Given the description of an element on the screen output the (x, y) to click on. 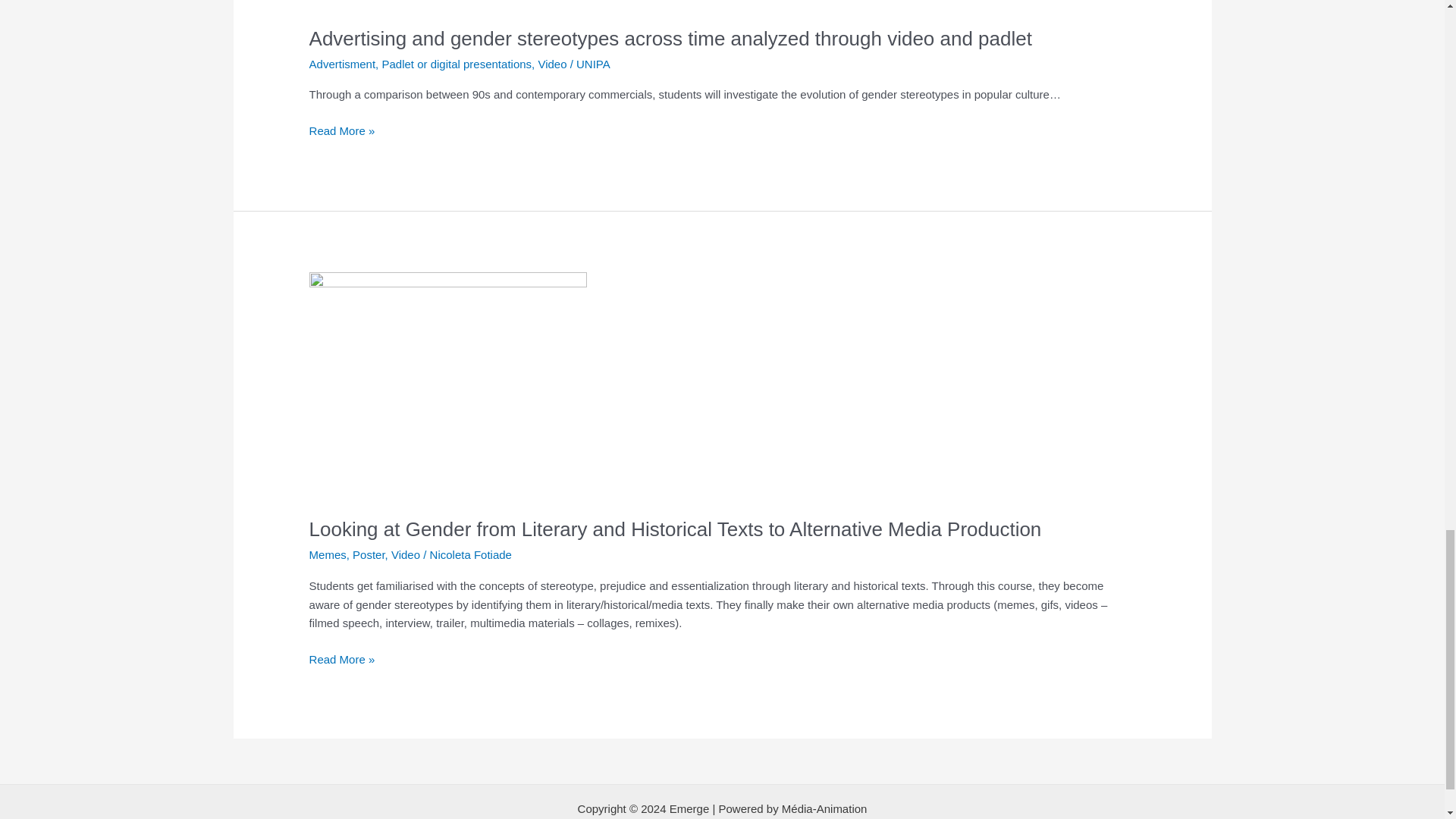
View all posts by UNIPA (593, 63)
View all posts by Nicoleta Fotiade (470, 554)
